Given the description of an element on the screen output the (x, y) to click on. 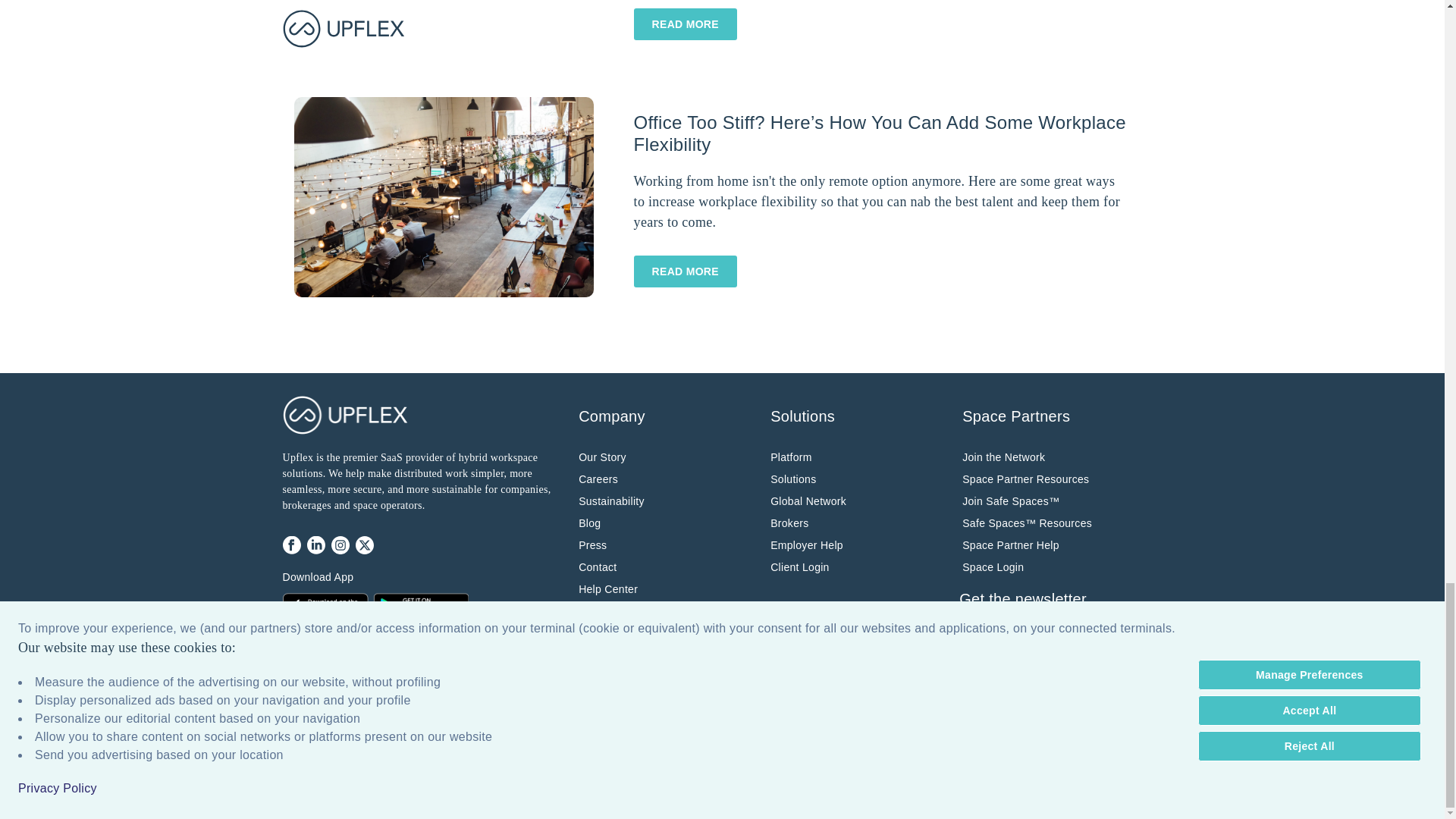
READ MORE (684, 271)
Submit (988, 679)
READ MORE (684, 271)
READ MORE (684, 24)
READ MORE (684, 24)
